Given the description of an element on the screen output the (x, y) to click on. 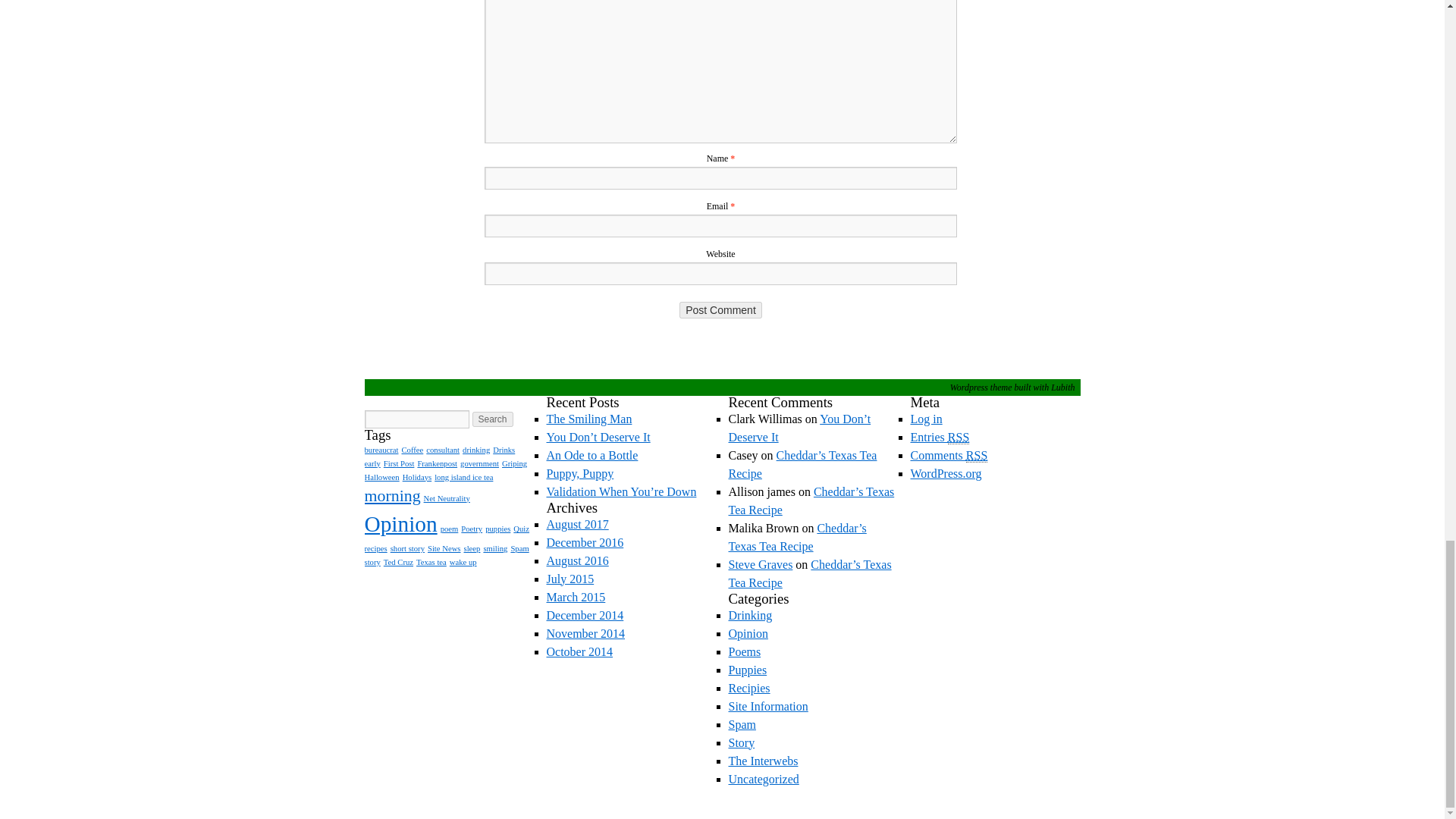
Griping (514, 463)
consultant (443, 449)
drinking (476, 449)
Post Comment (720, 310)
Wordpress Theme Generator (1062, 387)
government (479, 463)
Post Comment (720, 310)
Lubith (1062, 387)
Search (491, 418)
Semantic Personal Publishing Platform (970, 387)
early (372, 463)
Really Simple Syndication (976, 455)
bureaucrat (380, 449)
First Post (399, 463)
